Given the description of an element on the screen output the (x, y) to click on. 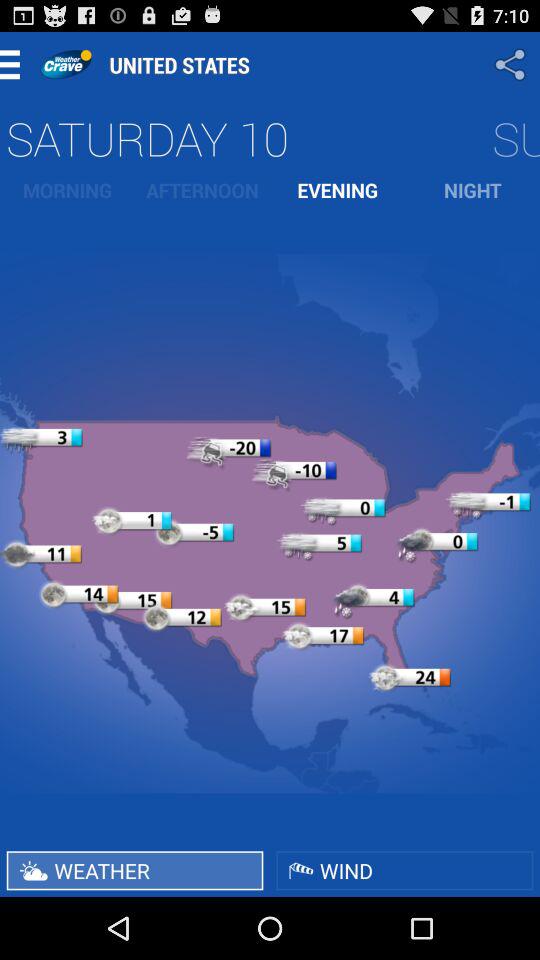
turn off item next to the evening (472, 190)
